Given the description of an element on the screen output the (x, y) to click on. 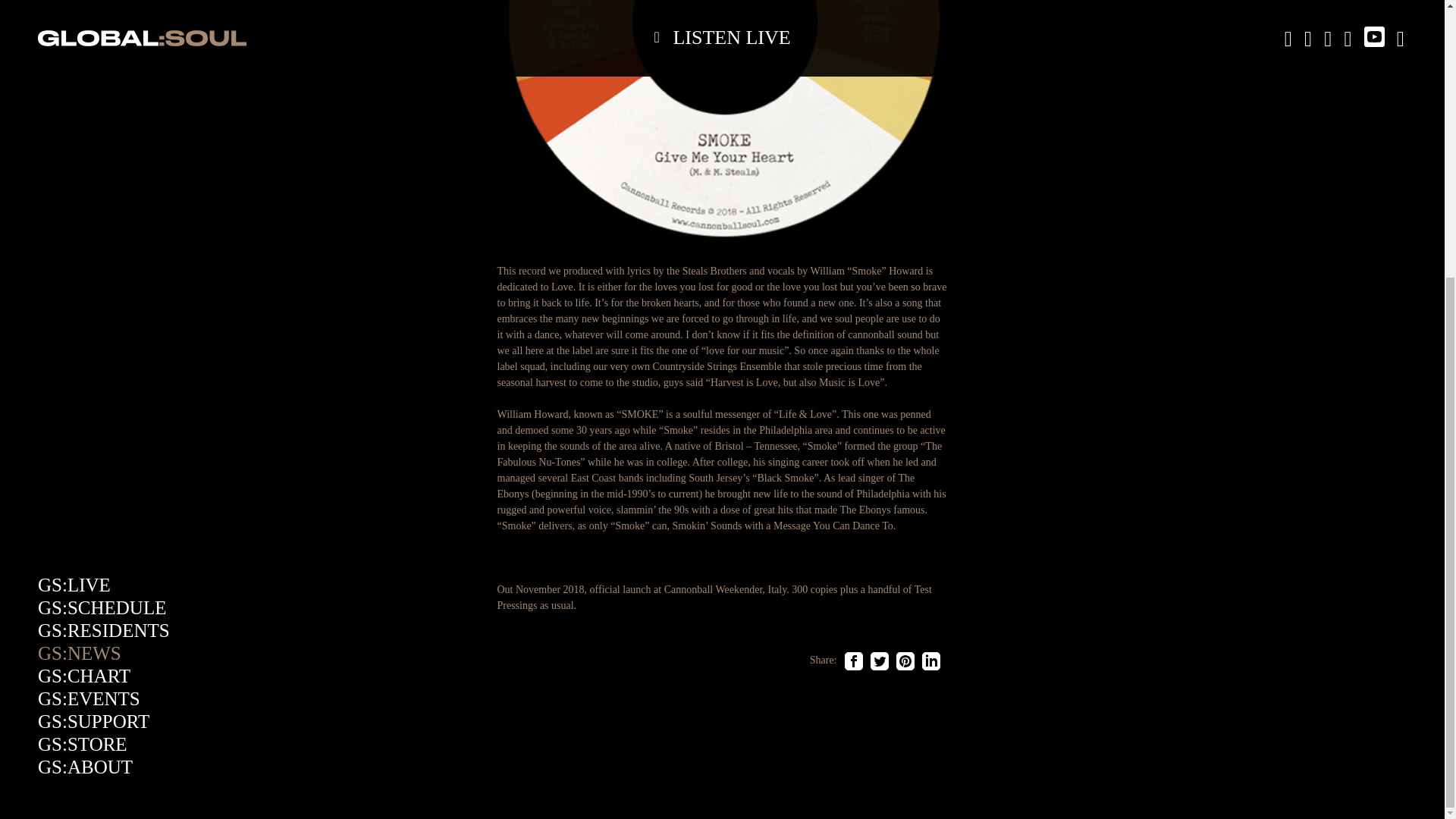
GS:SCHEDULE (101, 196)
GS:SUPPORT (93, 310)
GS:ABOUT (84, 355)
GS:RESIDENTS (103, 219)
GS:EVENTS (88, 287)
GS:STORE (82, 332)
GS:NEWS (78, 241)
GS:LIVE (73, 173)
GS:CHART (84, 264)
